Given the description of an element on the screen output the (x, y) to click on. 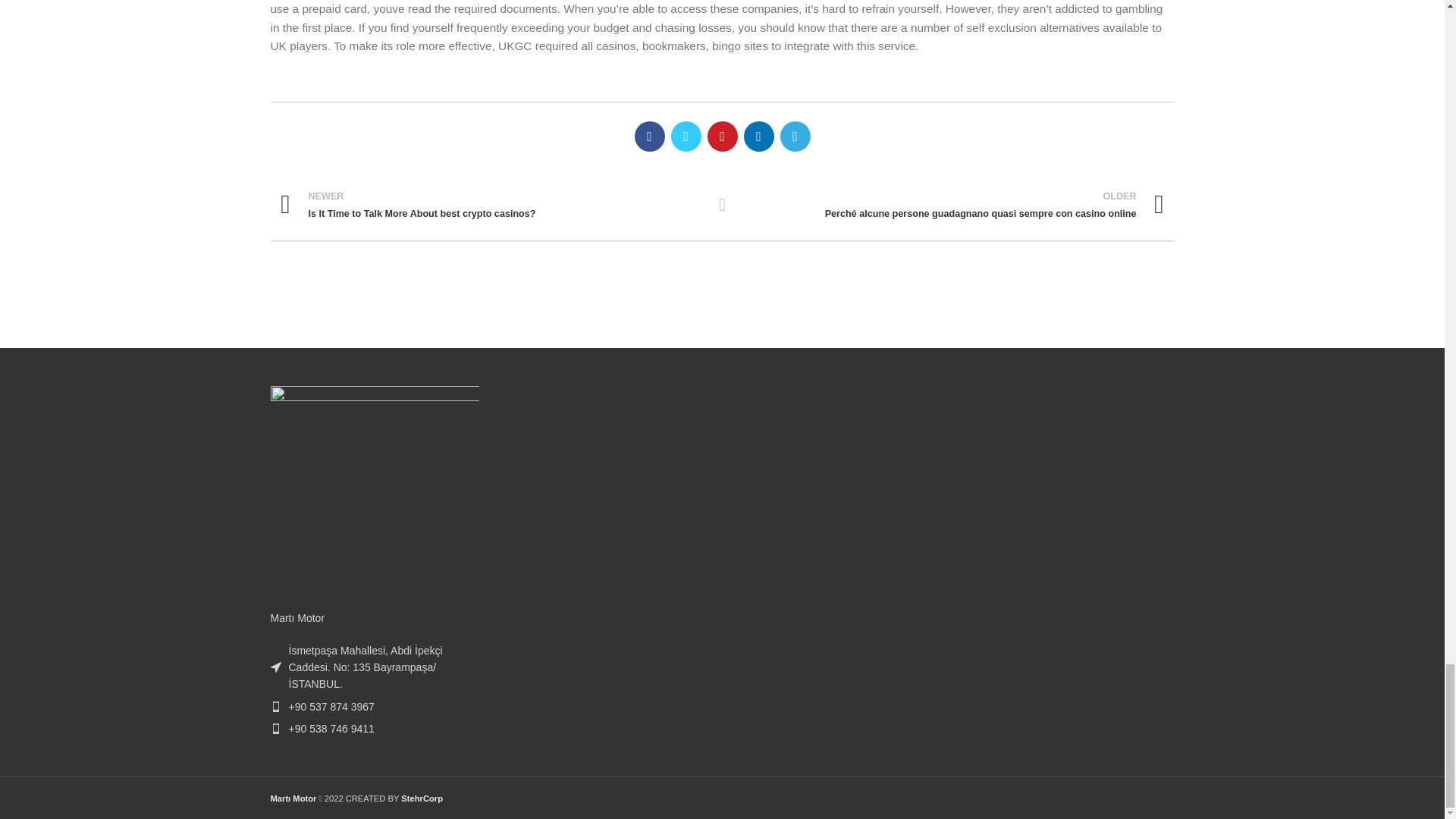
Back to list (722, 204)
wd-cursor-light (275, 666)
wd-phone-light (275, 706)
wd-phone-light (489, 205)
StehrCorp (275, 728)
